Given the description of an element on the screen output the (x, y) to click on. 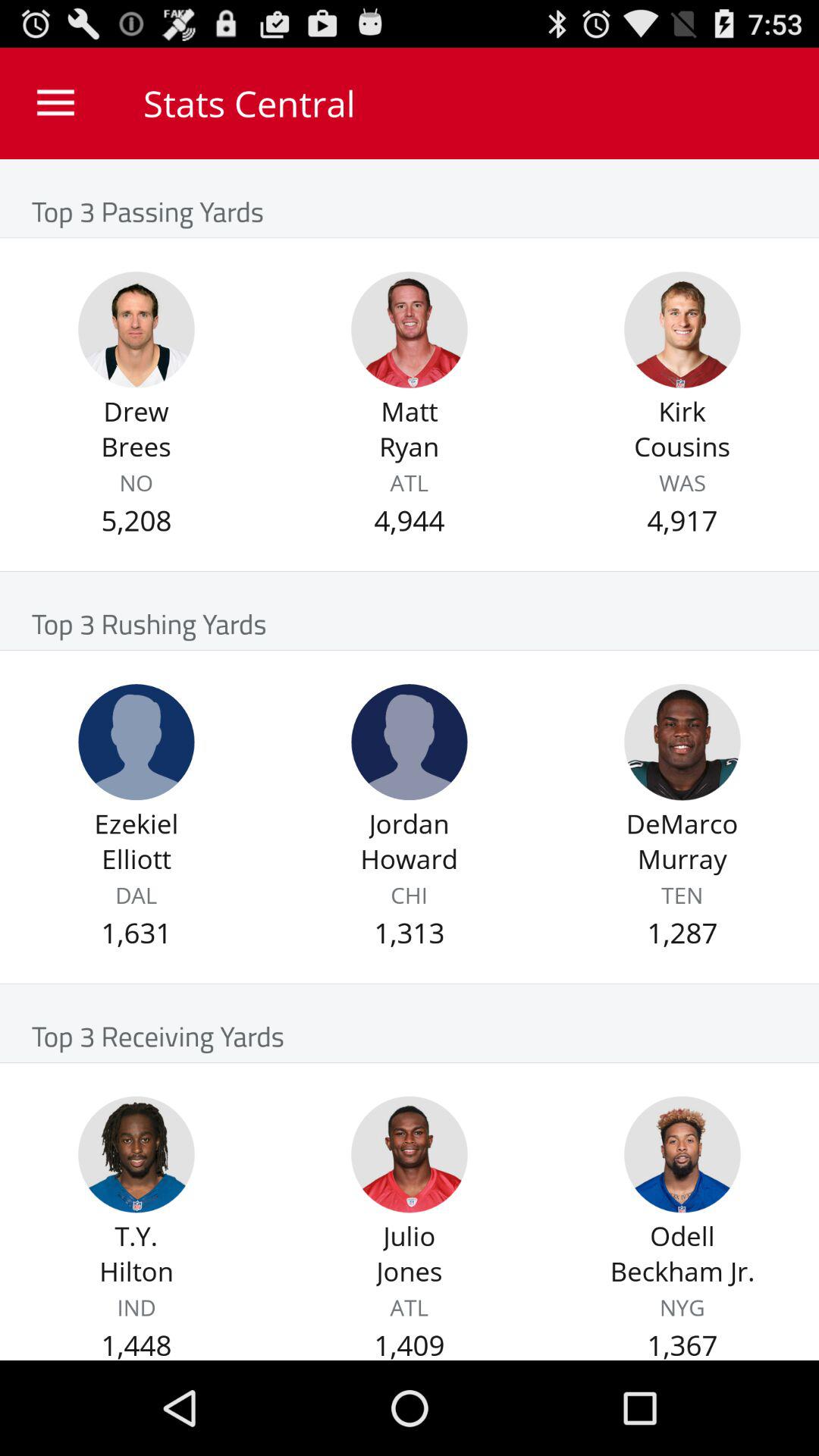
view player profile (409, 741)
